Given the description of an element on the screen output the (x, y) to click on. 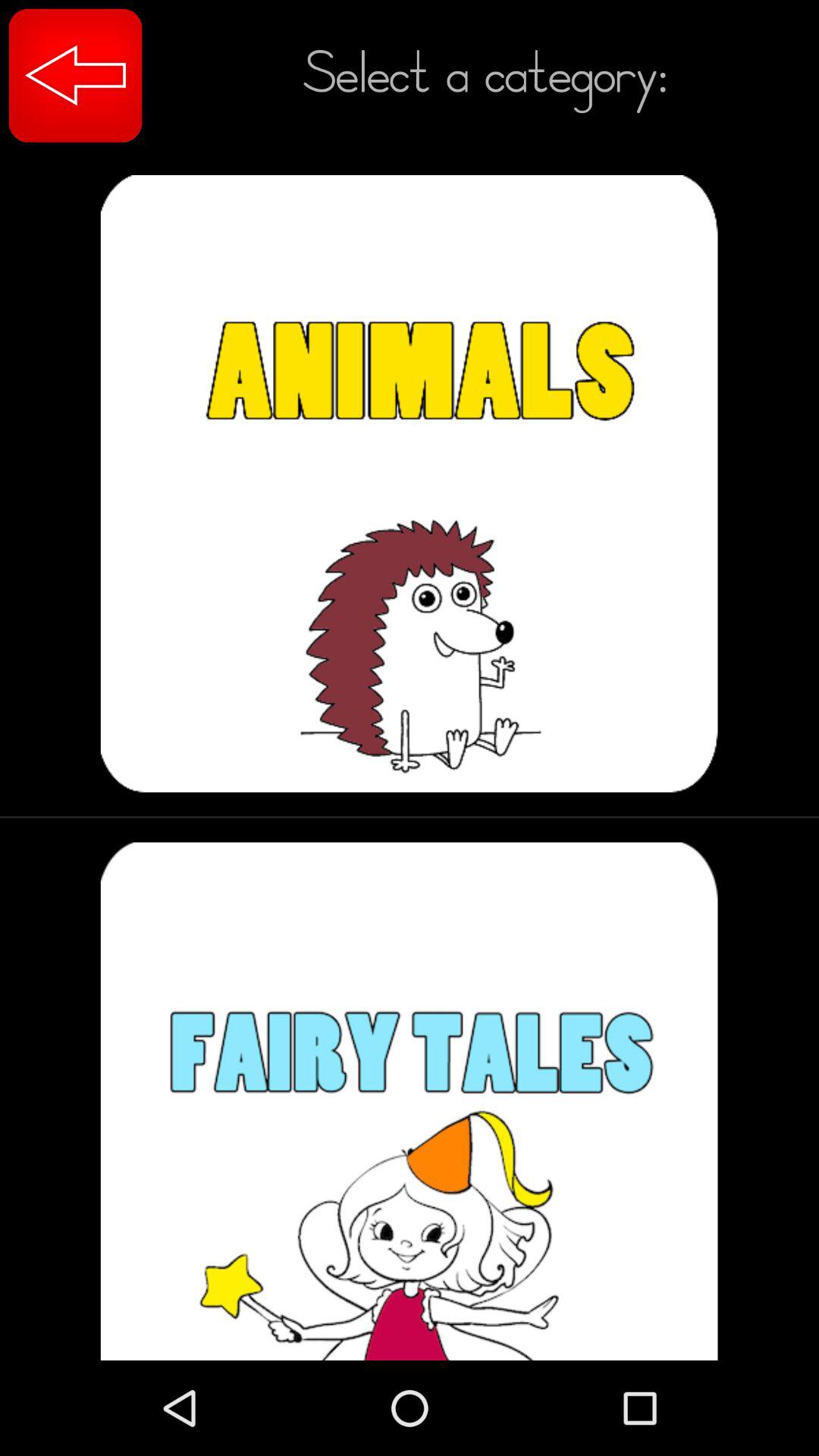
go to previous (75, 75)
